Given the description of an element on the screen output the (x, y) to click on. 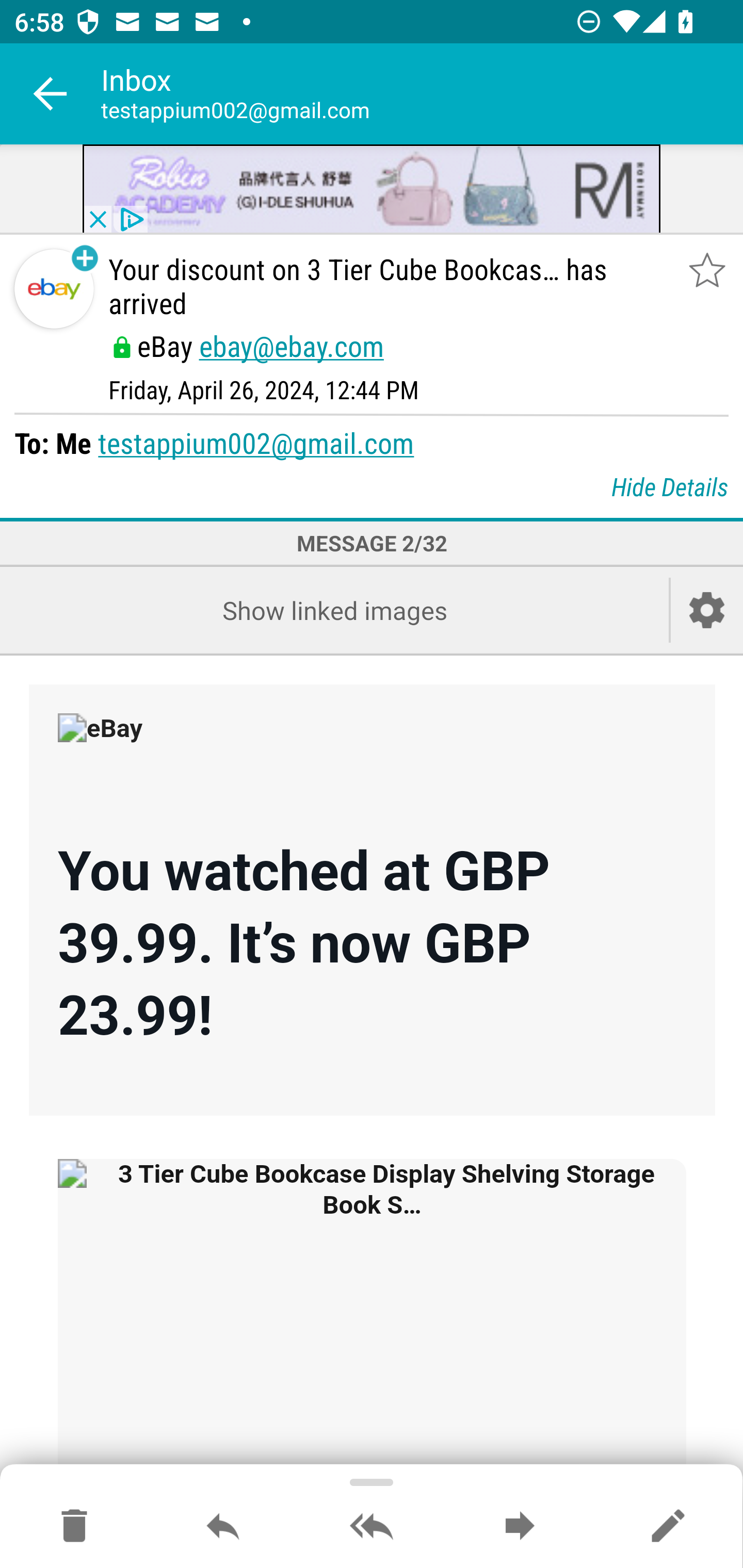
Navigate up (50, 93)
Inbox testappium002@gmail.com (422, 93)
close_button (96, 220)
privacy_small (129, 220)
Sender contact button (53, 289)
Show linked images (334, 610)
Account setup (706, 610)
eBay (129, 742)
Move to Deleted (74, 1527)
Reply (222, 1527)
Reply all (371, 1527)
Forward (519, 1527)
Reply as new (667, 1527)
